Given the description of an element on the screen output the (x, y) to click on. 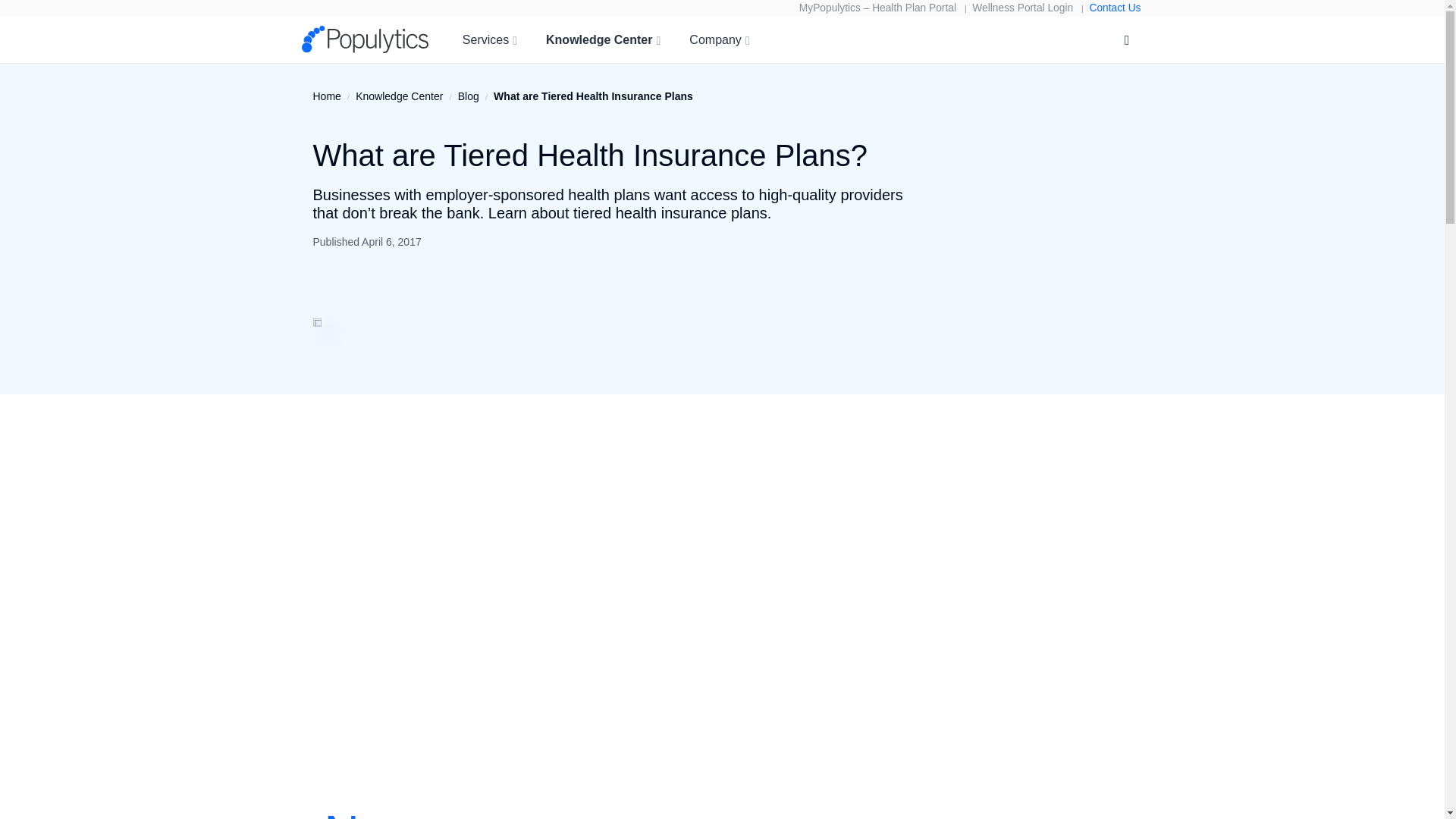
Services (489, 39)
Knowledge Center (603, 39)
Wellness Portal Login (1022, 7)
Company (719, 39)
Contact Us (1114, 7)
